Given the description of an element on the screen output the (x, y) to click on. 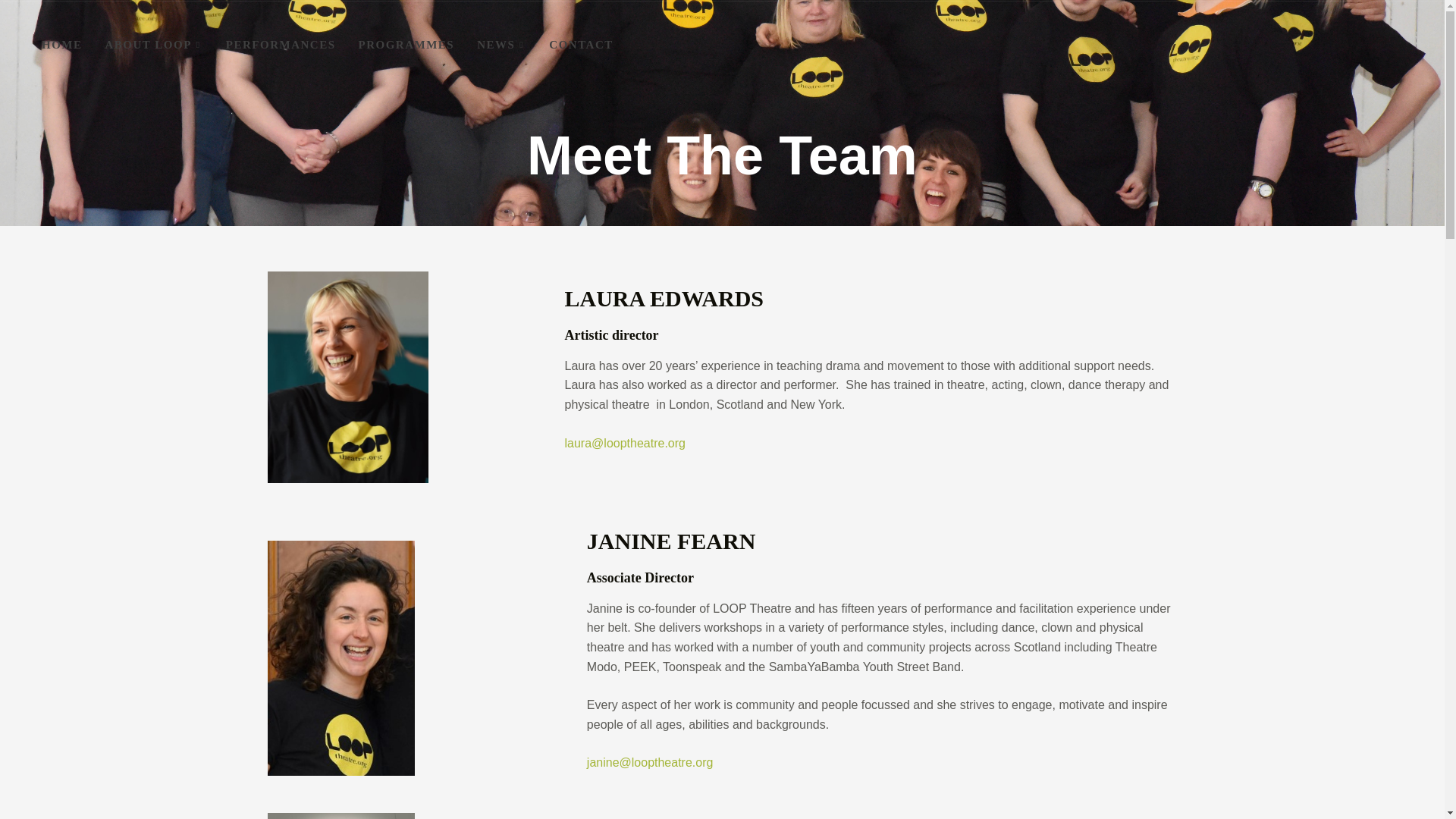
ABOUT LOOP (154, 44)
CONTACT (580, 44)
NEWS (501, 44)
PERFORMANCES (280, 44)
PROGRAMMES (406, 44)
